Given the description of an element on the screen output the (x, y) to click on. 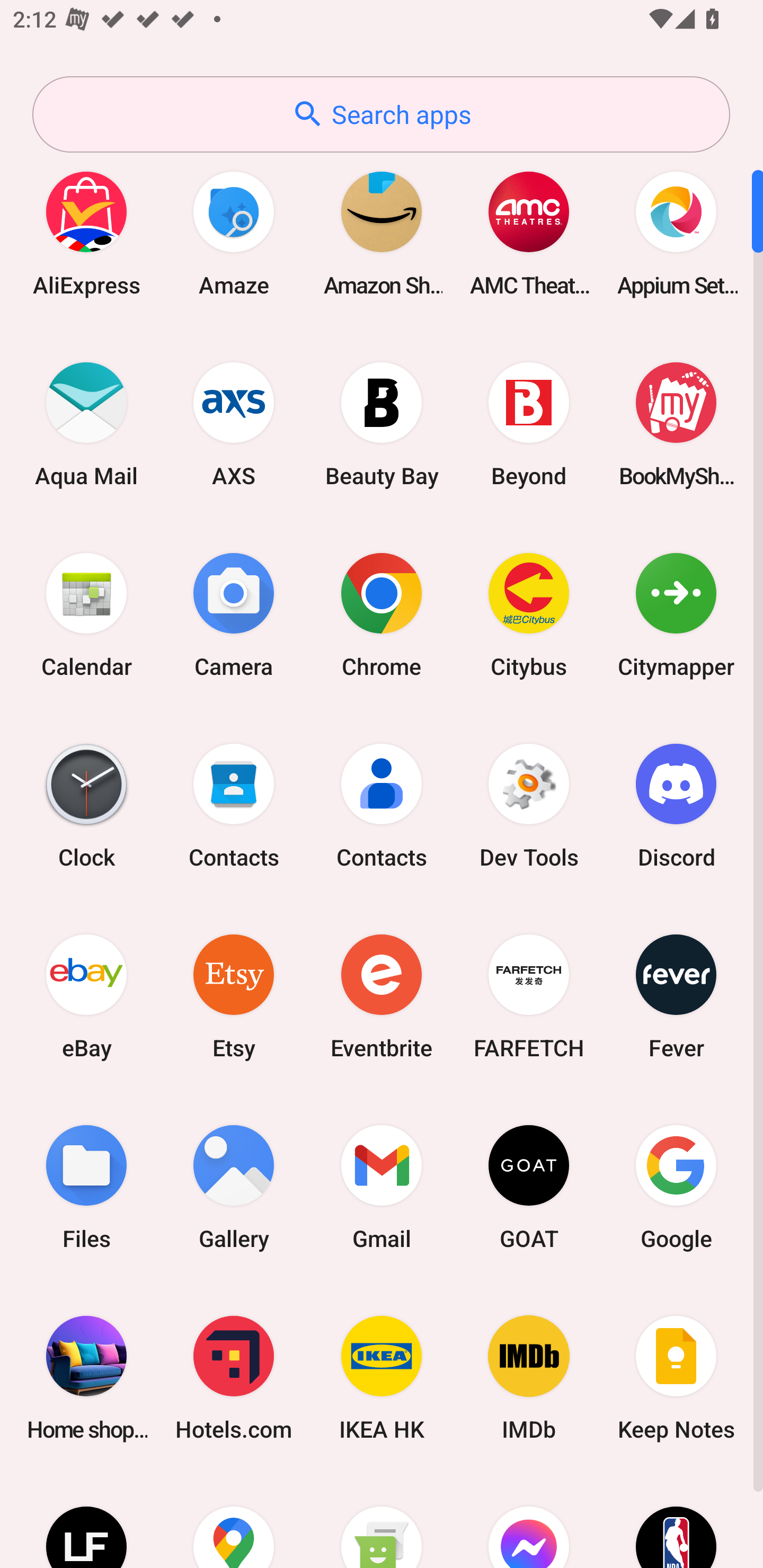
Citymapper (676, 614)
